Given the description of an element on the screen output the (x, y) to click on. 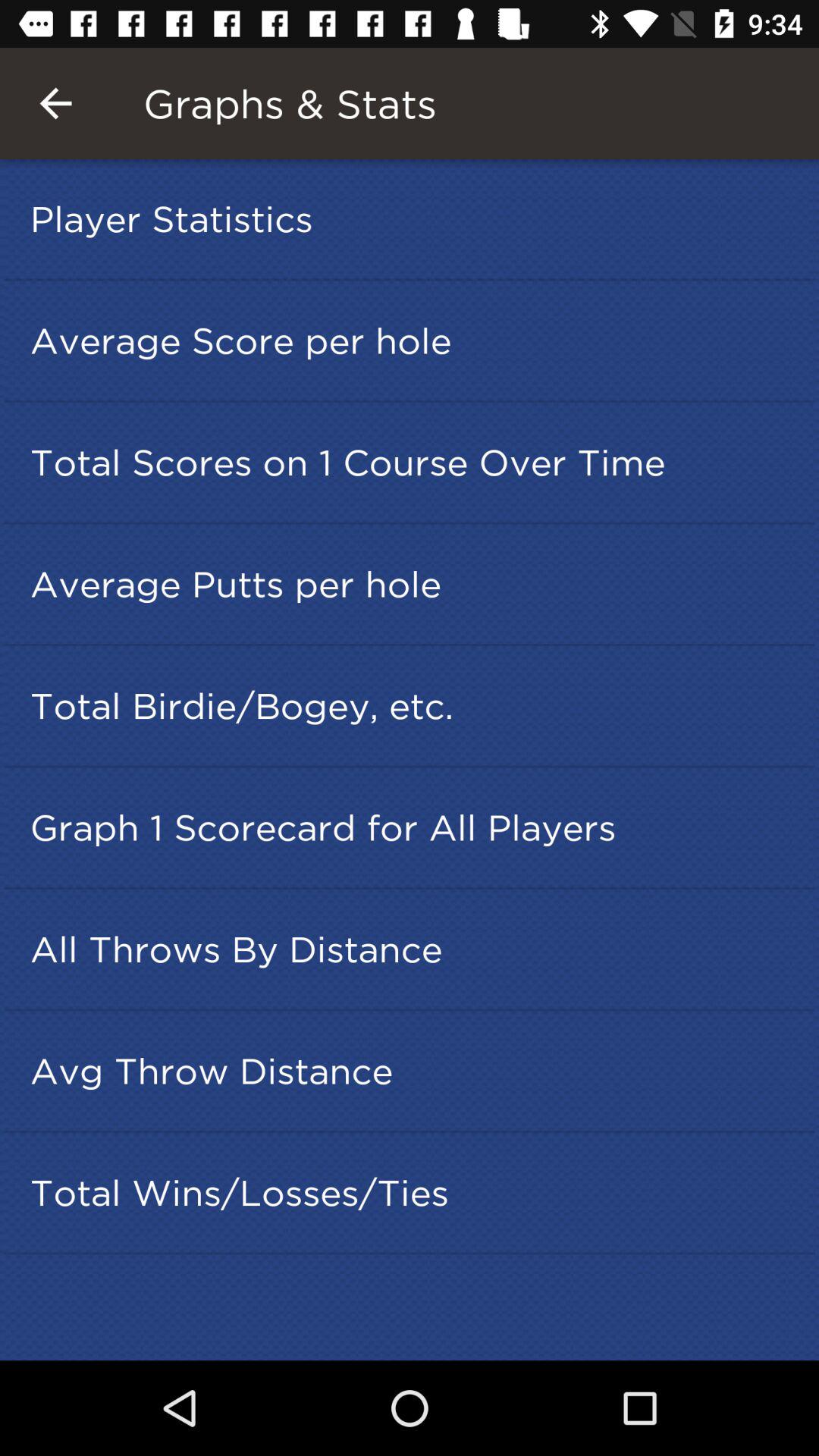
click total scores on (414, 462)
